Given the description of an element on the screen output the (x, y) to click on. 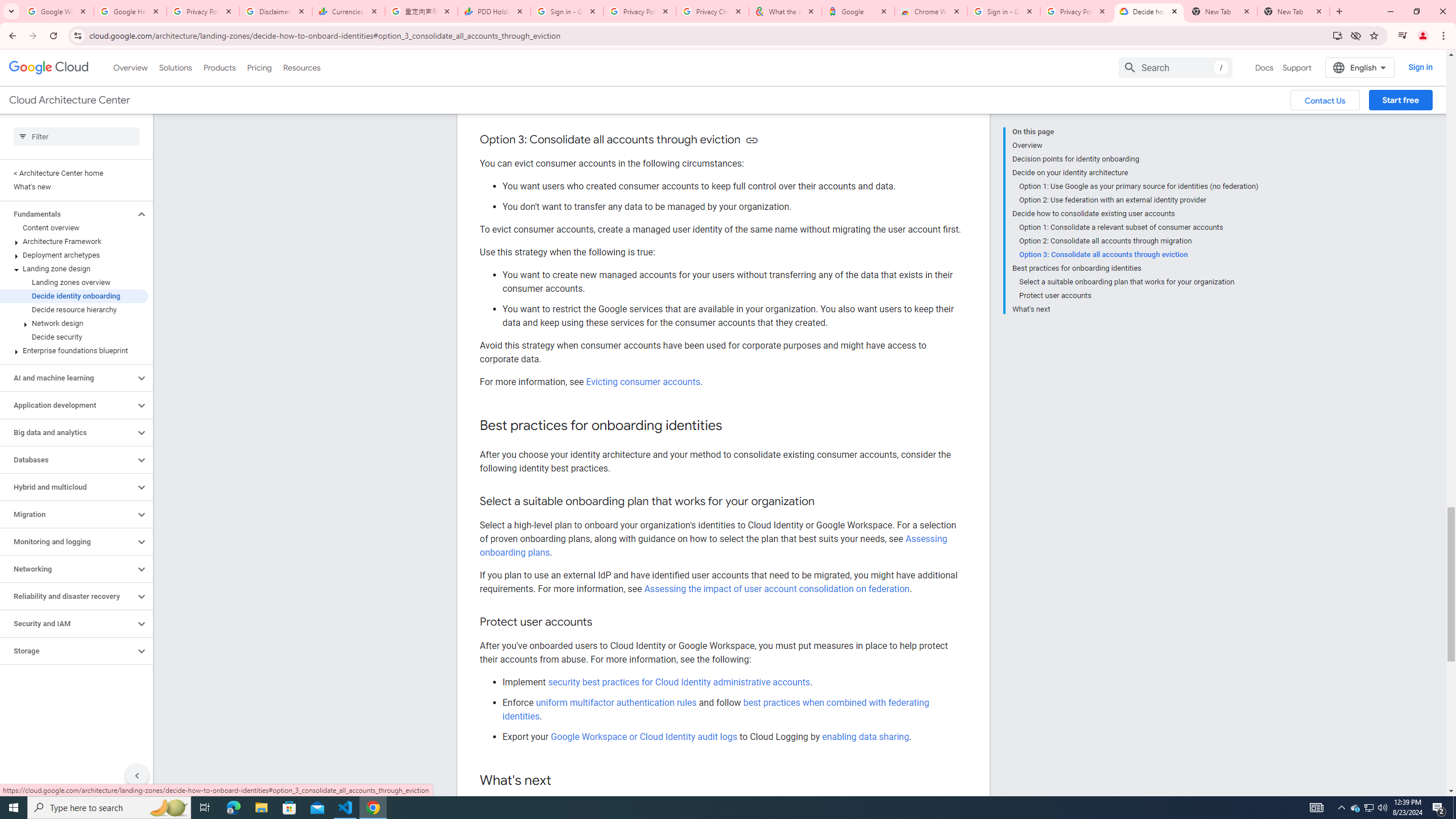
What's new (74, 187)
Migration (67, 514)
Network design (74, 323)
Google Workspace Admin Community (57, 11)
Landing zones overview (74, 282)
Architecture Framework (74, 241)
Option 1: Consolidate a relevant subset of consumer accounts (1138, 227)
What's next (1134, 307)
Security and IAM (67, 623)
